Given the description of an element on the screen output the (x, y) to click on. 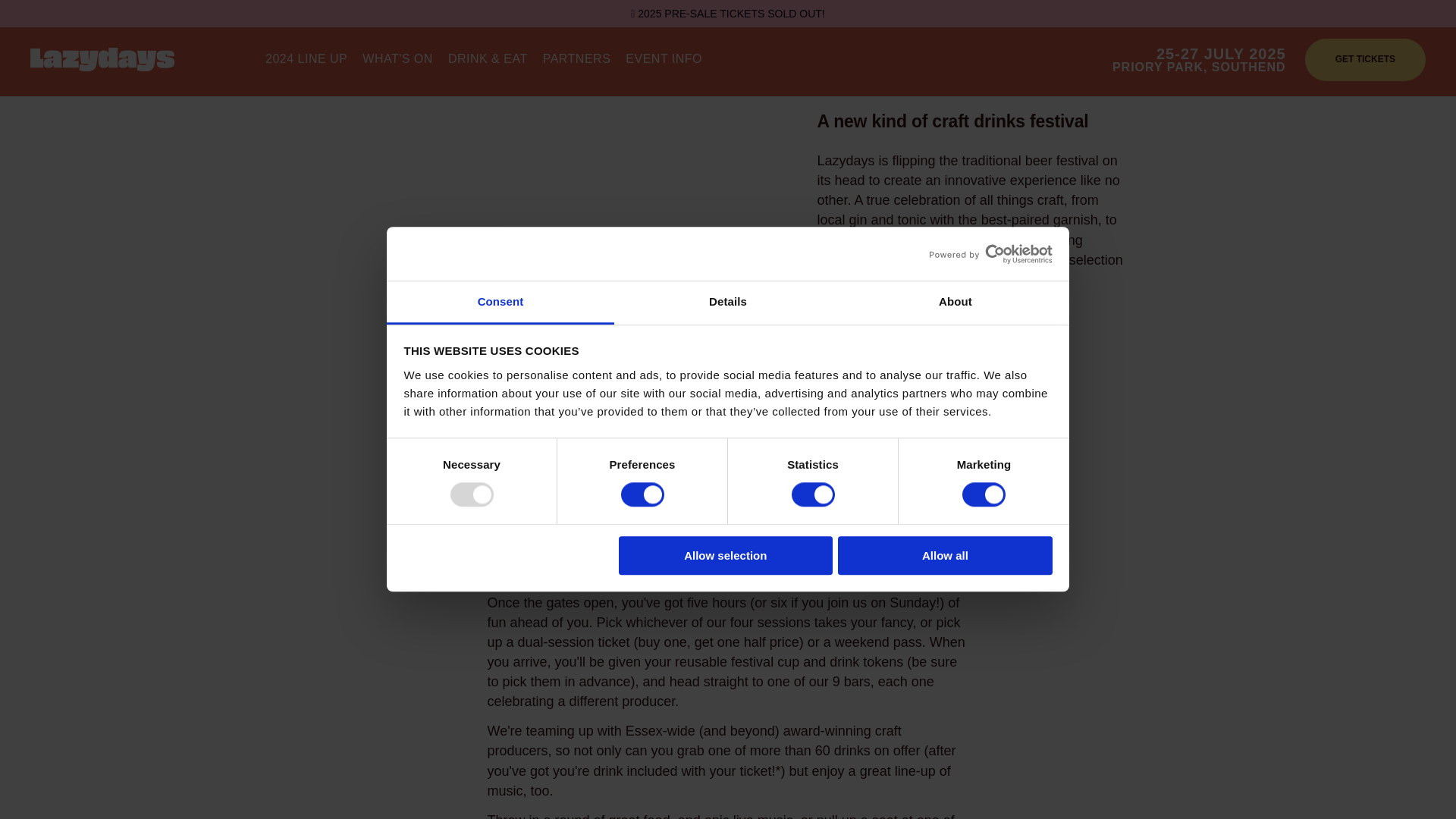
About (954, 302)
Consent (500, 302)
Details (727, 302)
